Given the description of an element on the screen output the (x, y) to click on. 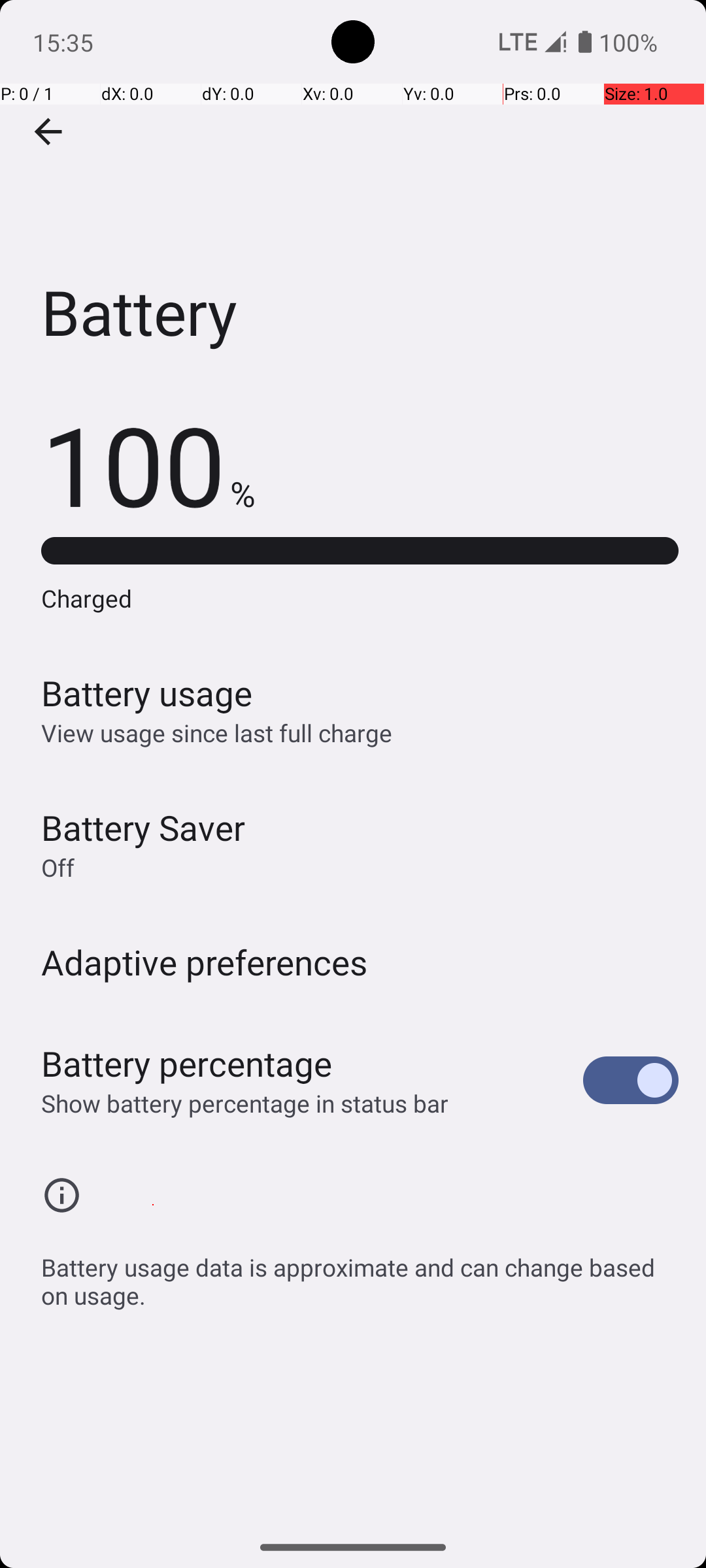
100 % Element type: android.widget.TextView (147, 463)
Charged Element type: android.widget.TextView (359, 597)
Battery usage Element type: android.widget.TextView (146, 692)
View usage since last full charge Element type: android.widget.TextView (216, 732)
Battery Saver Element type: android.widget.TextView (143, 827)
Adaptive preferences Element type: android.widget.TextView (204, 961)
Battery percentage Element type: android.widget.TextView (186, 1063)
Show battery percentage in status bar Element type: android.widget.TextView (244, 1102)
Battery usage data is approximate and can change based on usage. Element type: android.widget.TextView (359, 1274)
